Given the description of an element on the screen output the (x, y) to click on. 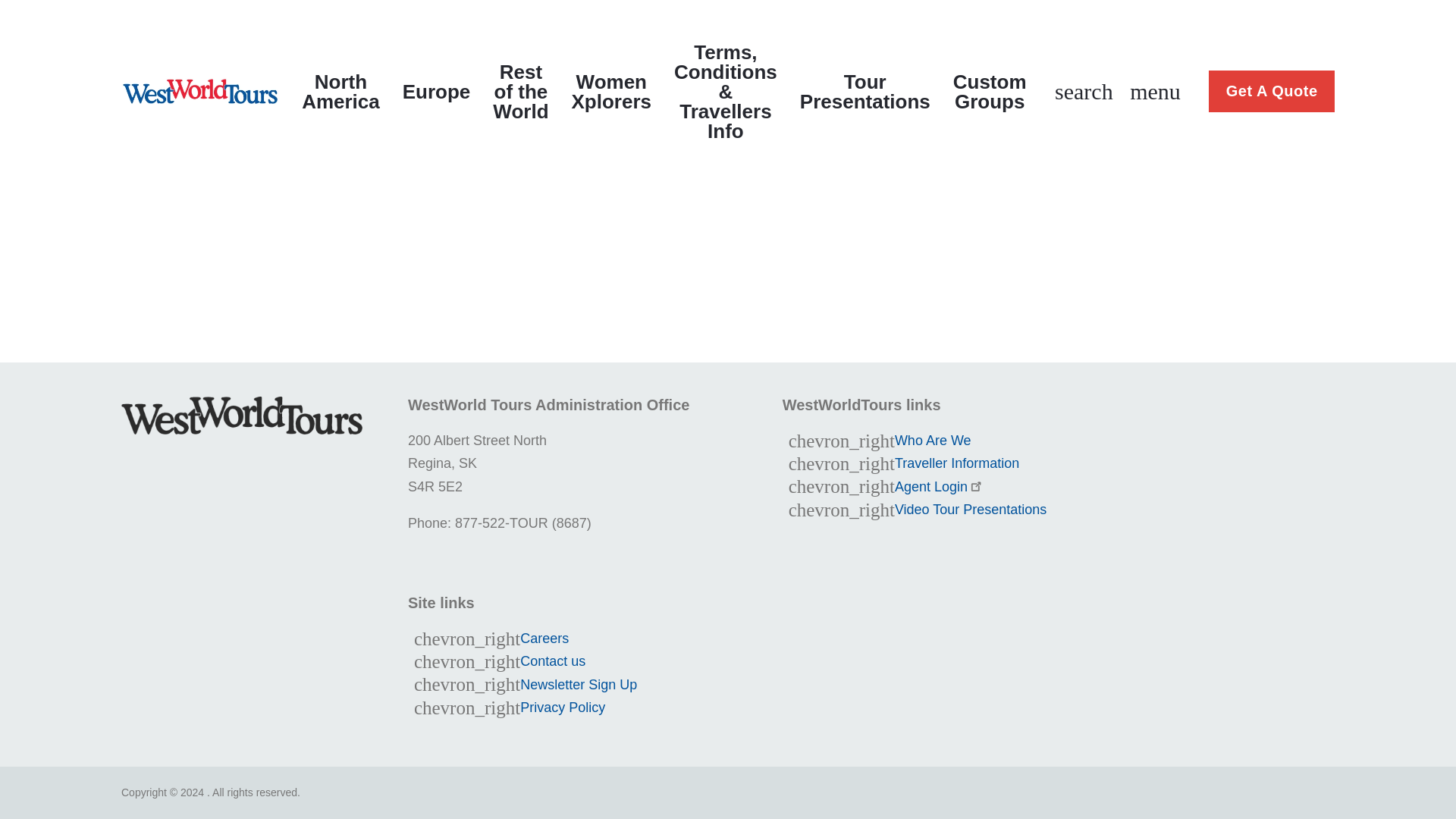
Menu (1155, 91)
Search (1084, 91)
